Given the description of an element on the screen output the (x, y) to click on. 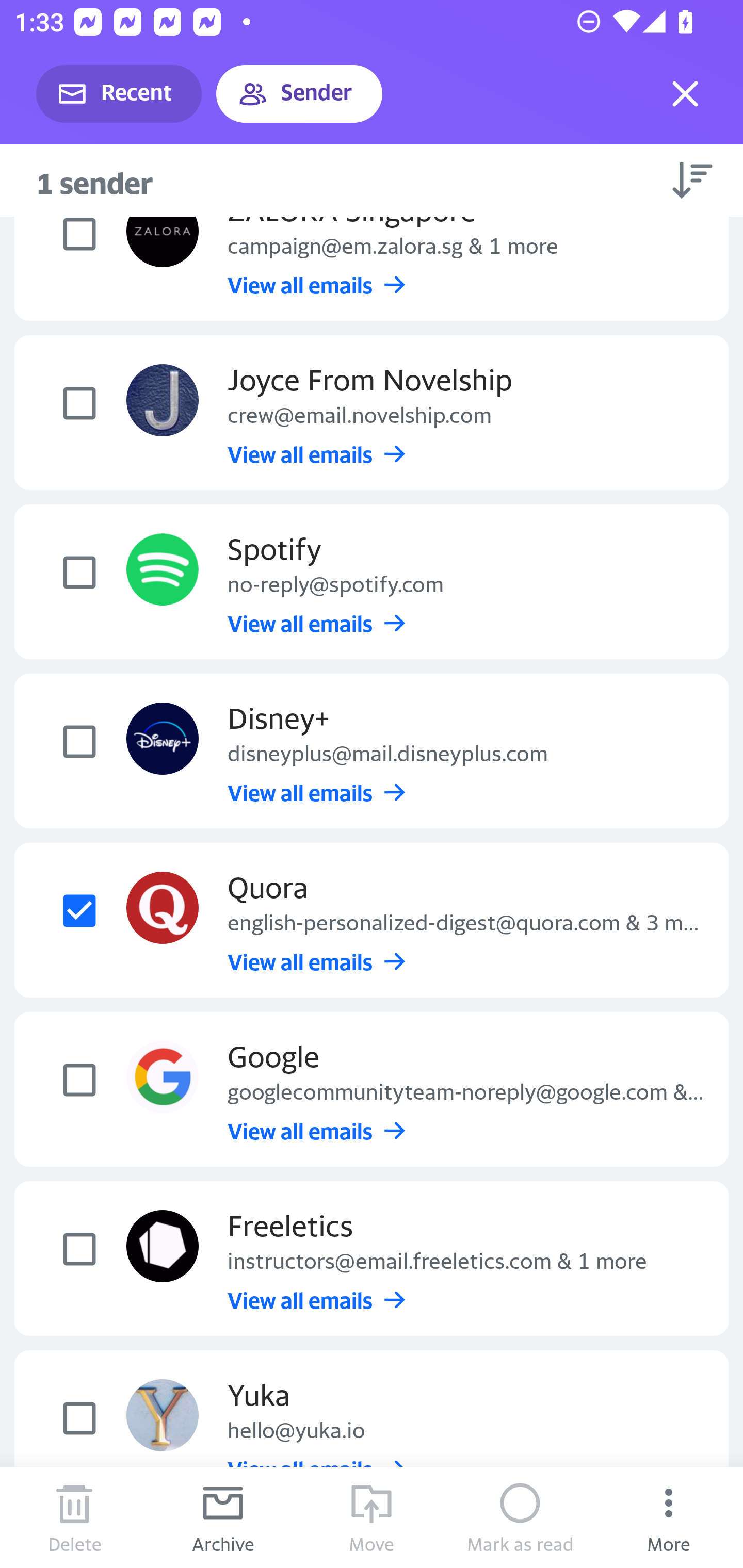
Recent (119, 93)
Exit selection mode (684, 93)
Sort (692, 180)
Spotify no-reply@spotify.com View all emails (371, 581)
Yuka hello@yuka.io View all emails (371, 1427)
Delete (74, 1517)
Archive (222, 1517)
Move (371, 1517)
Mark as read (519, 1517)
More (668, 1517)
